Given the description of an element on the screen output the (x, y) to click on. 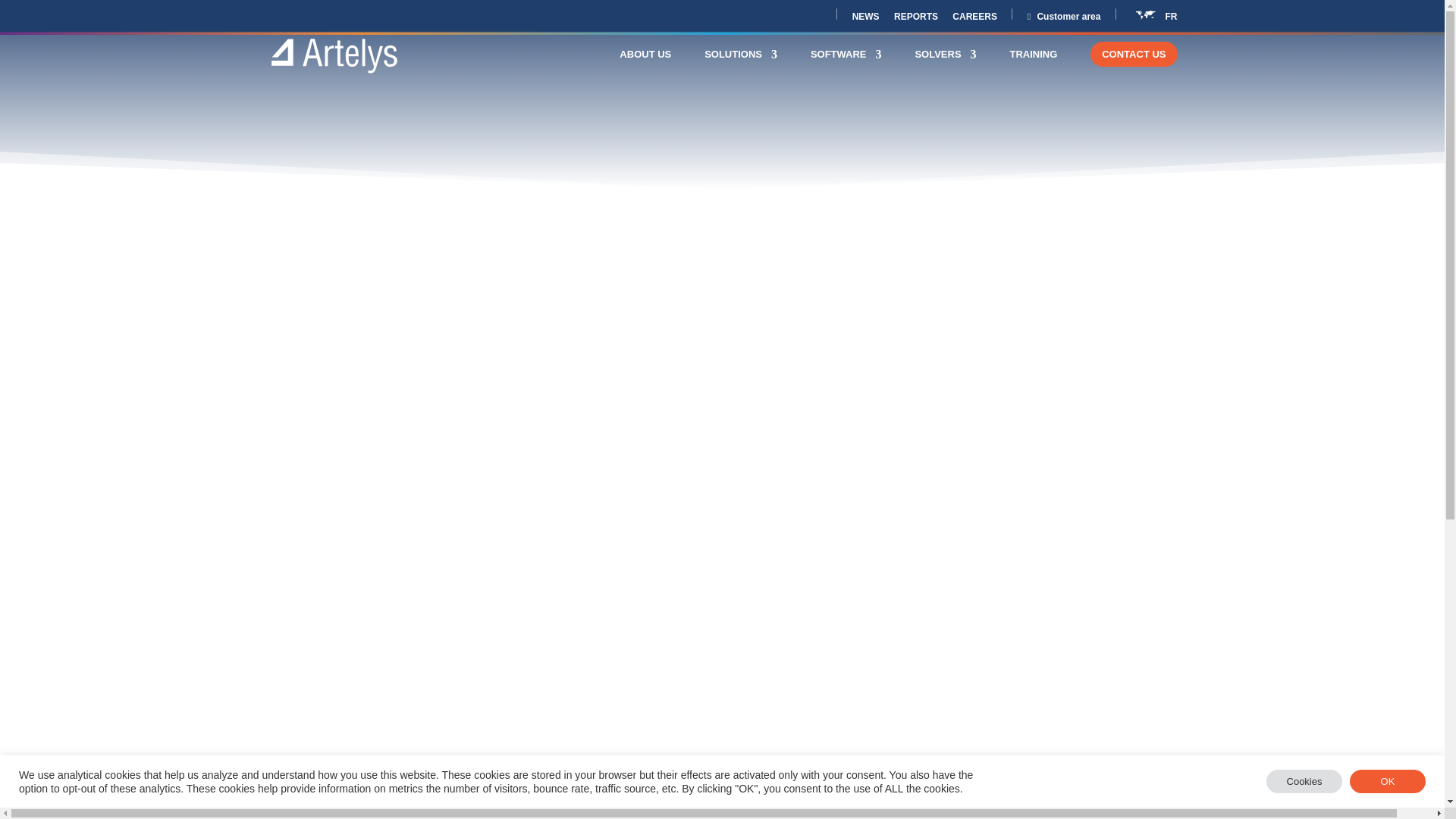
TRAINING (1034, 67)
CONTACT US (1134, 67)
Customer area (1063, 19)
SOLUTIONS (740, 67)
SOFTWARE (846, 67)
ABOUT US (645, 67)
REPORTS (915, 19)
CAREERS (974, 19)
SOLVERS (944, 67)
NEWS (865, 19)
